Given the description of an element on the screen output the (x, y) to click on. 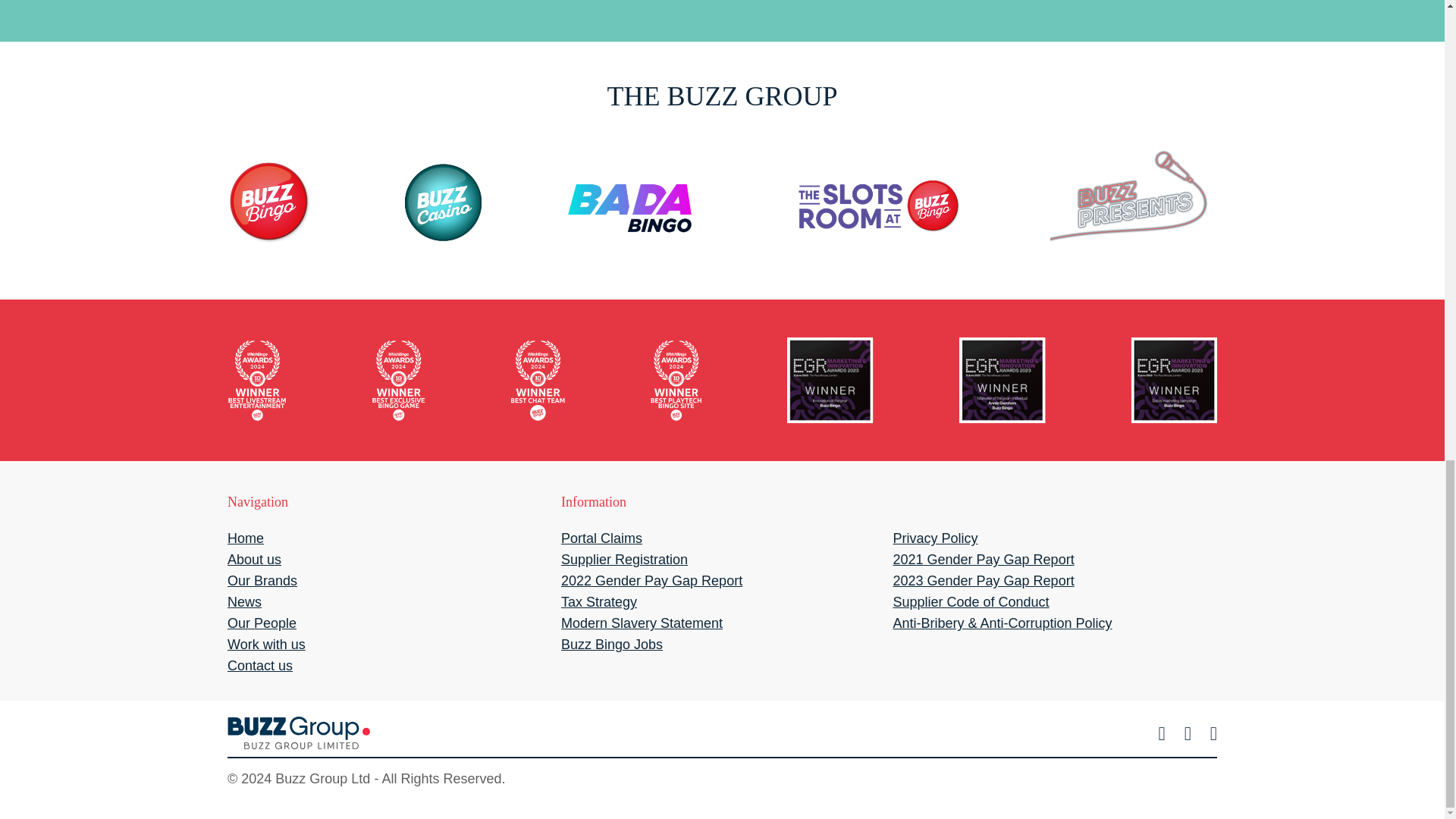
Supplier Registration (623, 559)
Modern Slavery Statement (641, 622)
2023 Gender Pay Gap Report (983, 580)
About us (254, 559)
2022 Gender Pay Gap Report (651, 580)
Supplier Code of Conduct (970, 601)
2021 Gender Pay Gap Report (983, 559)
Tax Strategy (598, 601)
Work with us (266, 644)
Our Brands (262, 580)
Contact us (259, 665)
Privacy Policy (934, 538)
Home (245, 538)
Our People (262, 622)
Portal Claims (601, 538)
